Given the description of an element on the screen output the (x, y) to click on. 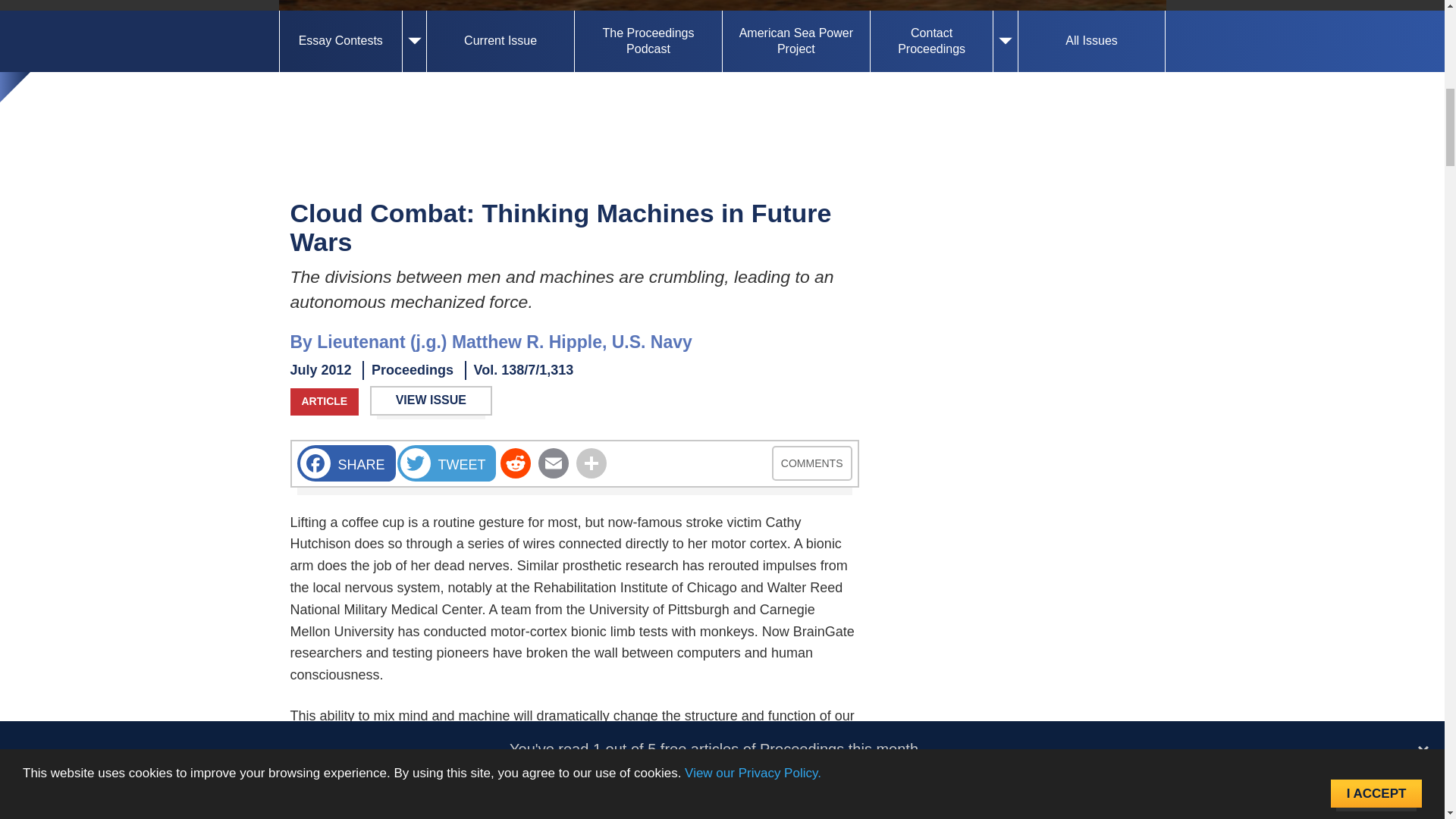
View our Privacy Policy. (752, 40)
3rd party ad content (1017, 503)
3rd party ad content (1017, 717)
3rd party ad content (1017, 289)
I ACCEPT (1376, 43)
American Sea Power Project (795, 41)
Current Issue of Proceedings (499, 41)
3rd party ad content (721, 115)
